Given the description of an element on the screen output the (x, y) to click on. 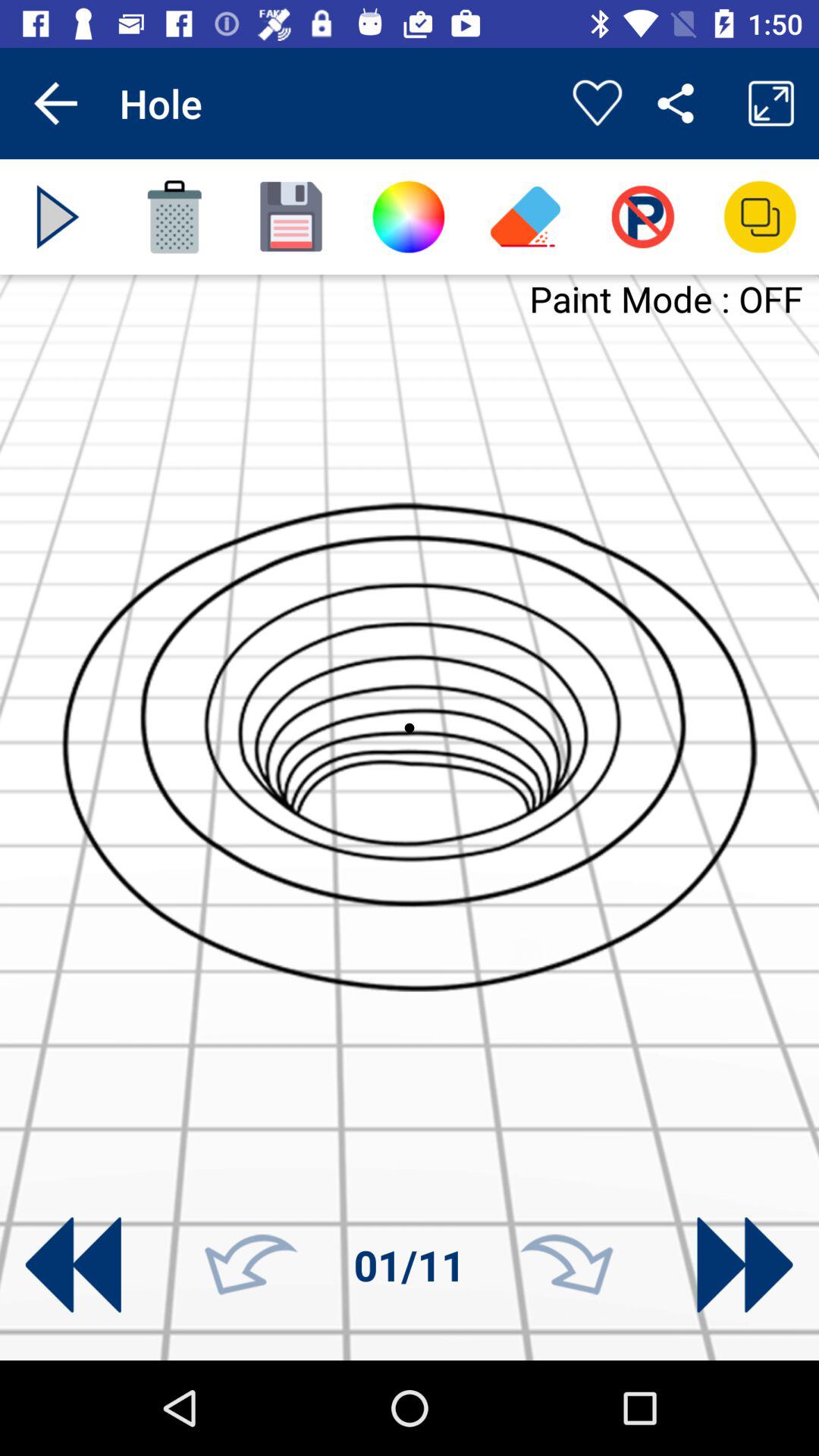
previous button (73, 1264)
